Given the description of an element on the screen output the (x, y) to click on. 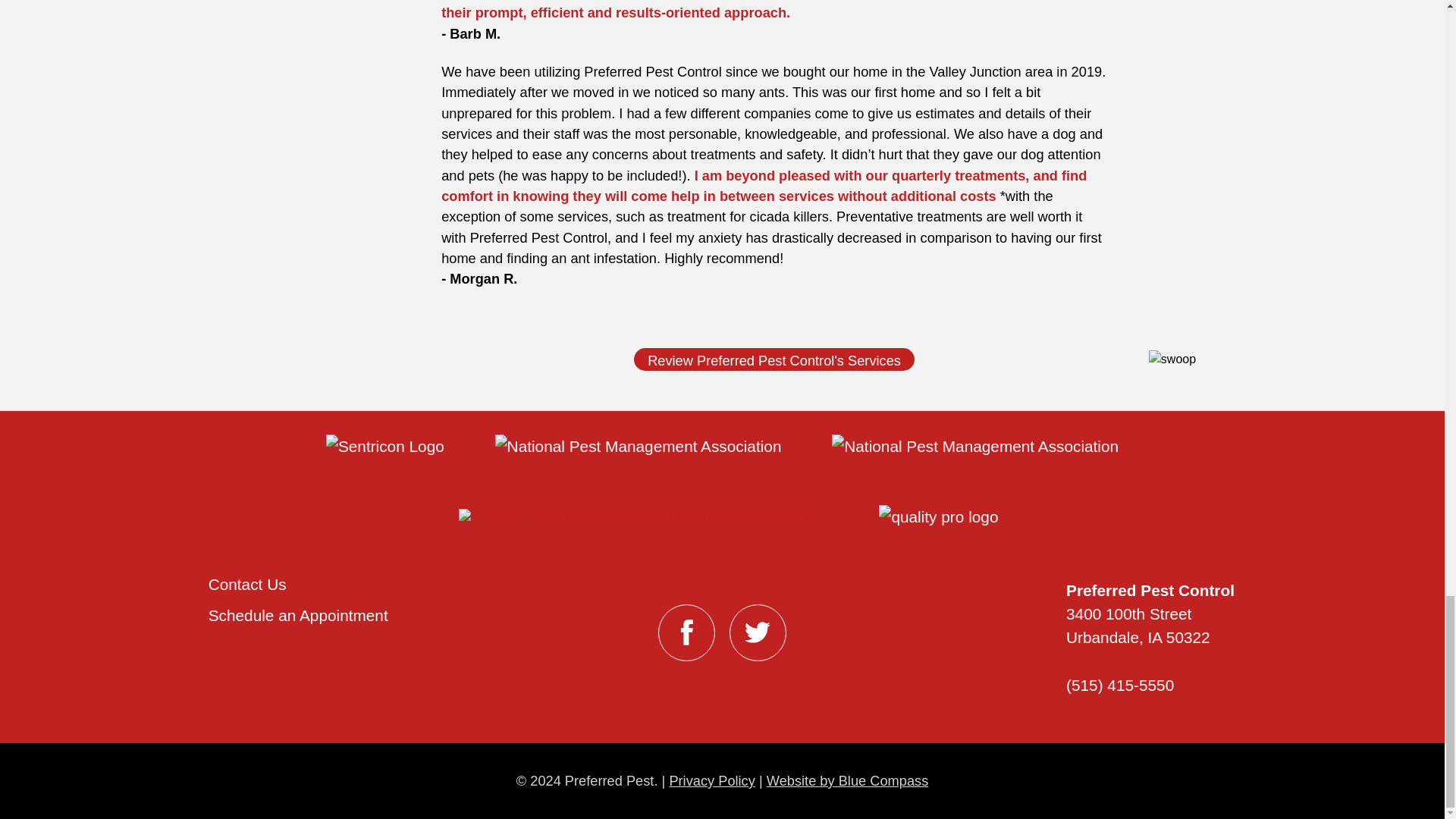
Contact Us (247, 584)
Review Preferred Pest Control's Services (773, 359)
Schedule an Appointment (298, 615)
